Given the description of an element on the screen output the (x, y) to click on. 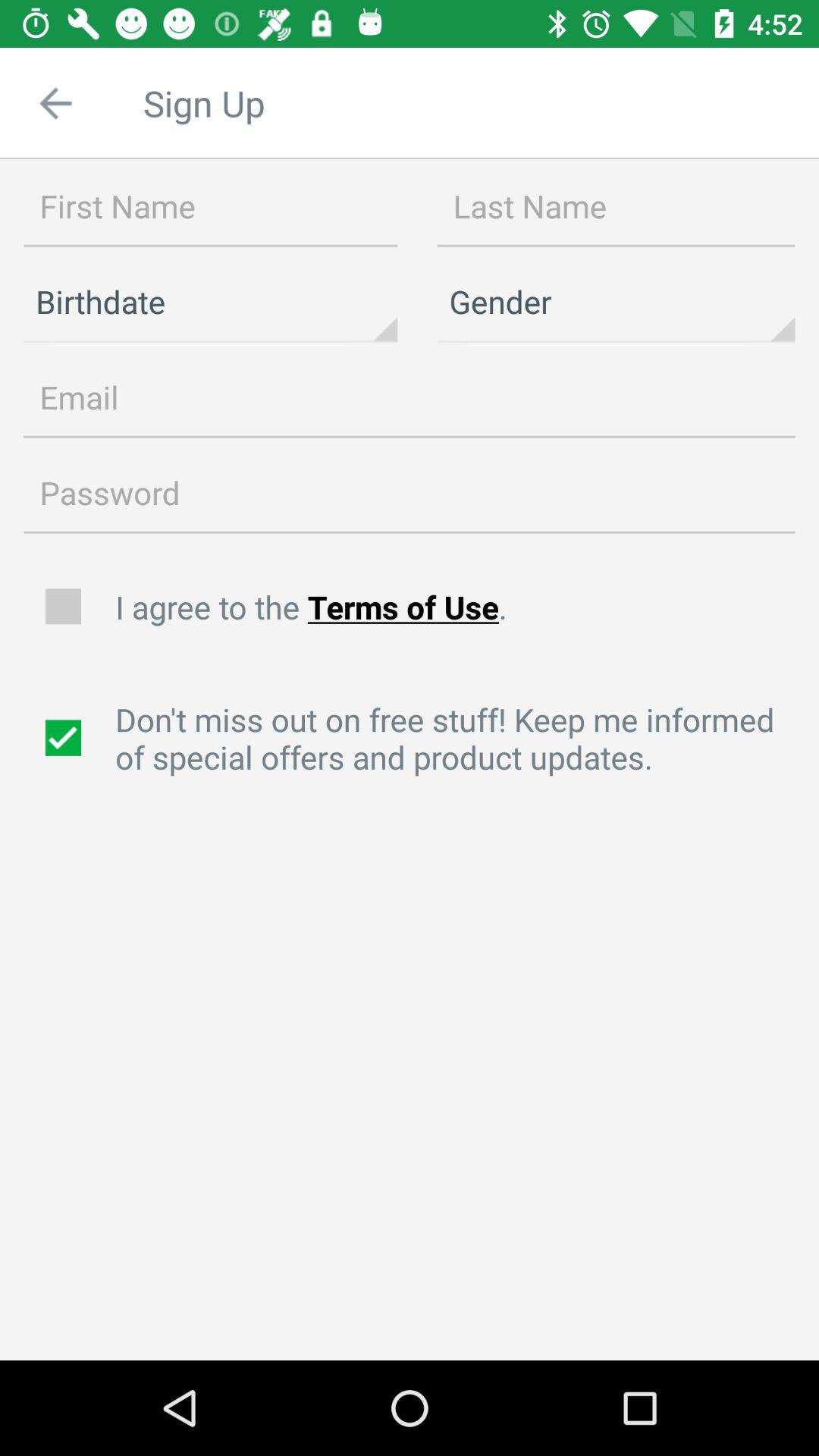
email input field (409, 397)
